Given the description of an element on the screen output the (x, y) to click on. 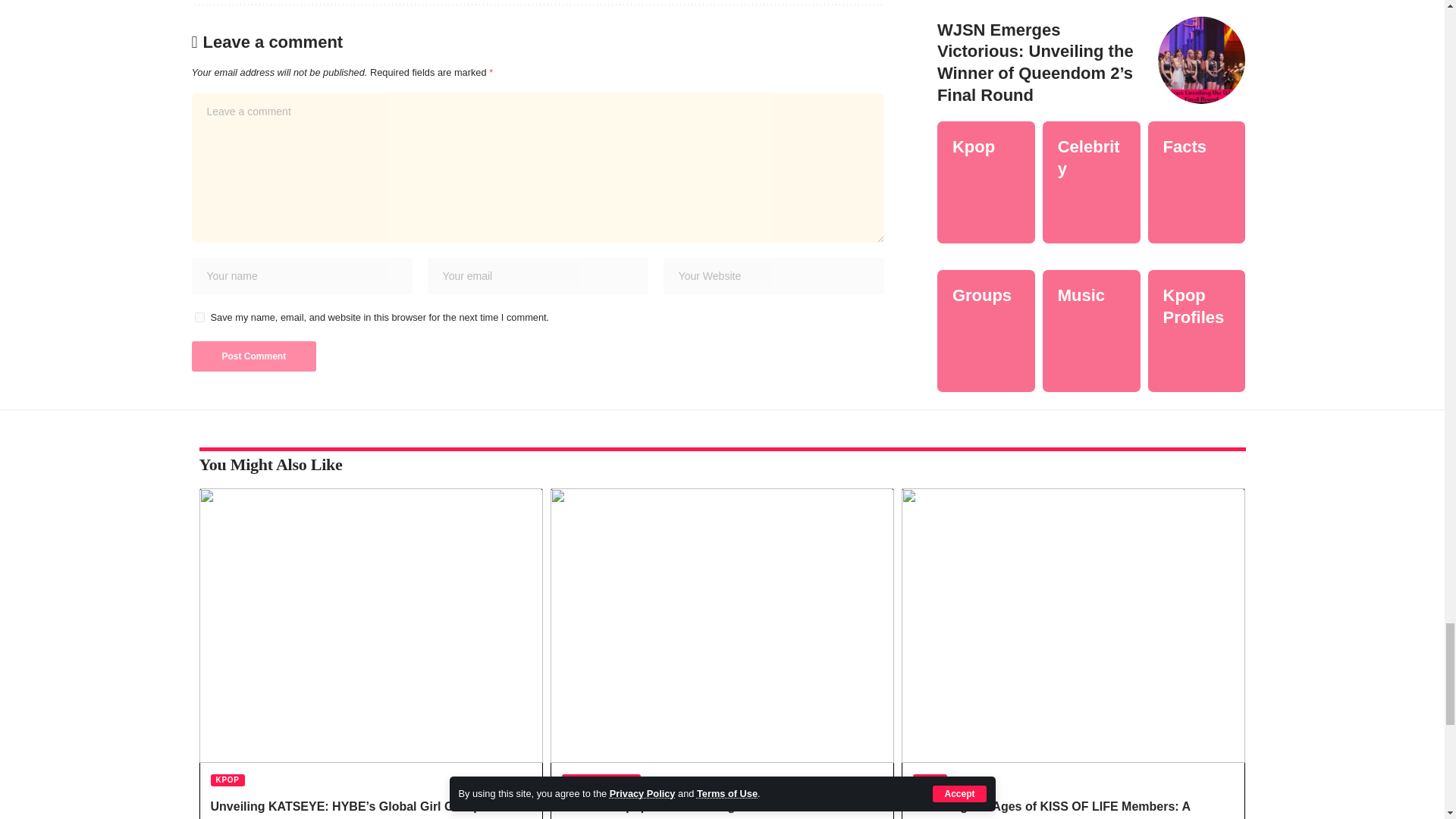
yes (198, 317)
Post Comment (252, 356)
